Given the description of an element on the screen output the (x, y) to click on. 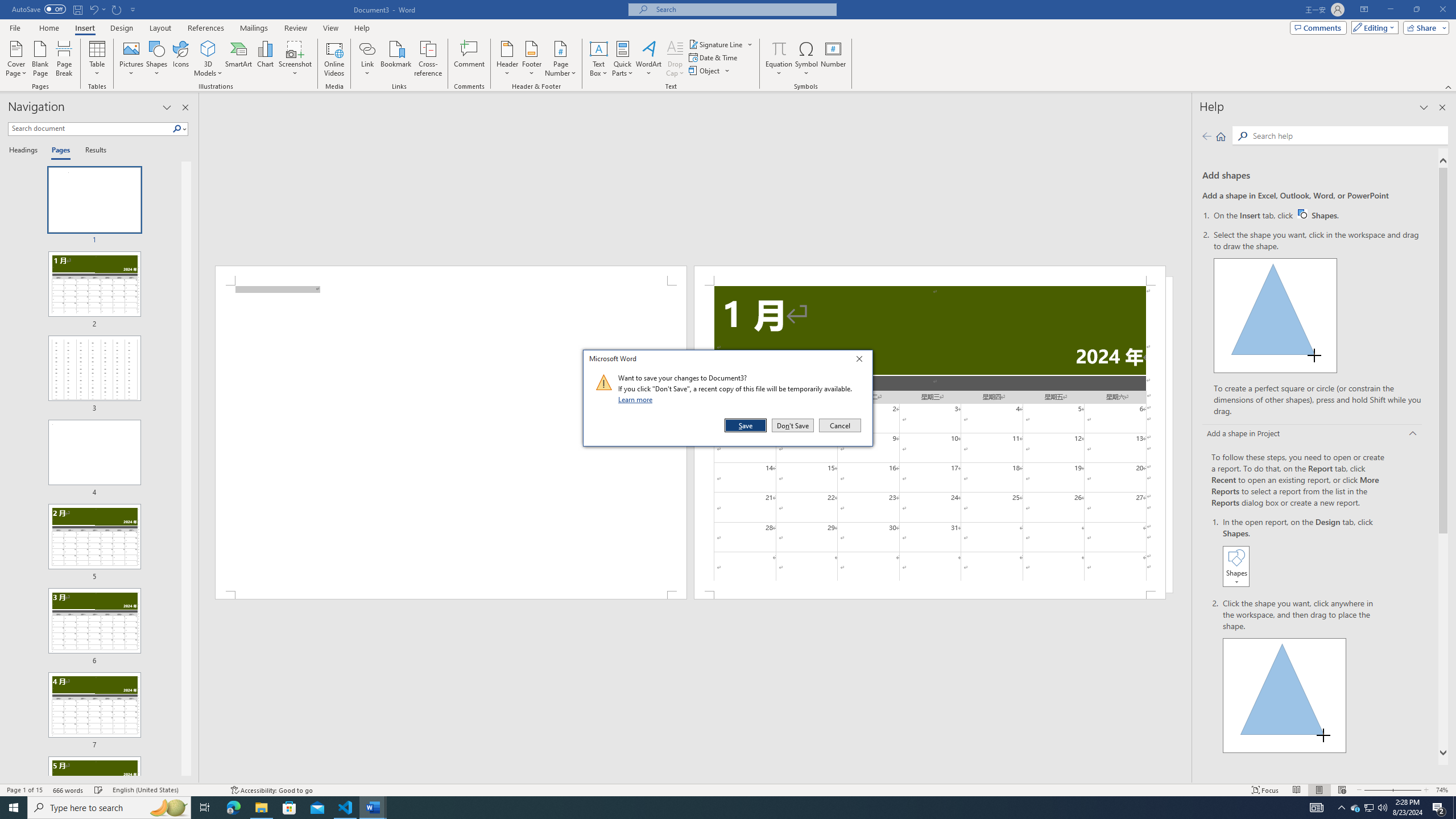
Type here to search (108, 807)
Search highlights icon opens search home window (167, 807)
Word - 2 running windows (373, 807)
Repeat Doc Close (117, 9)
